Given the description of an element on the screen output the (x, y) to click on. 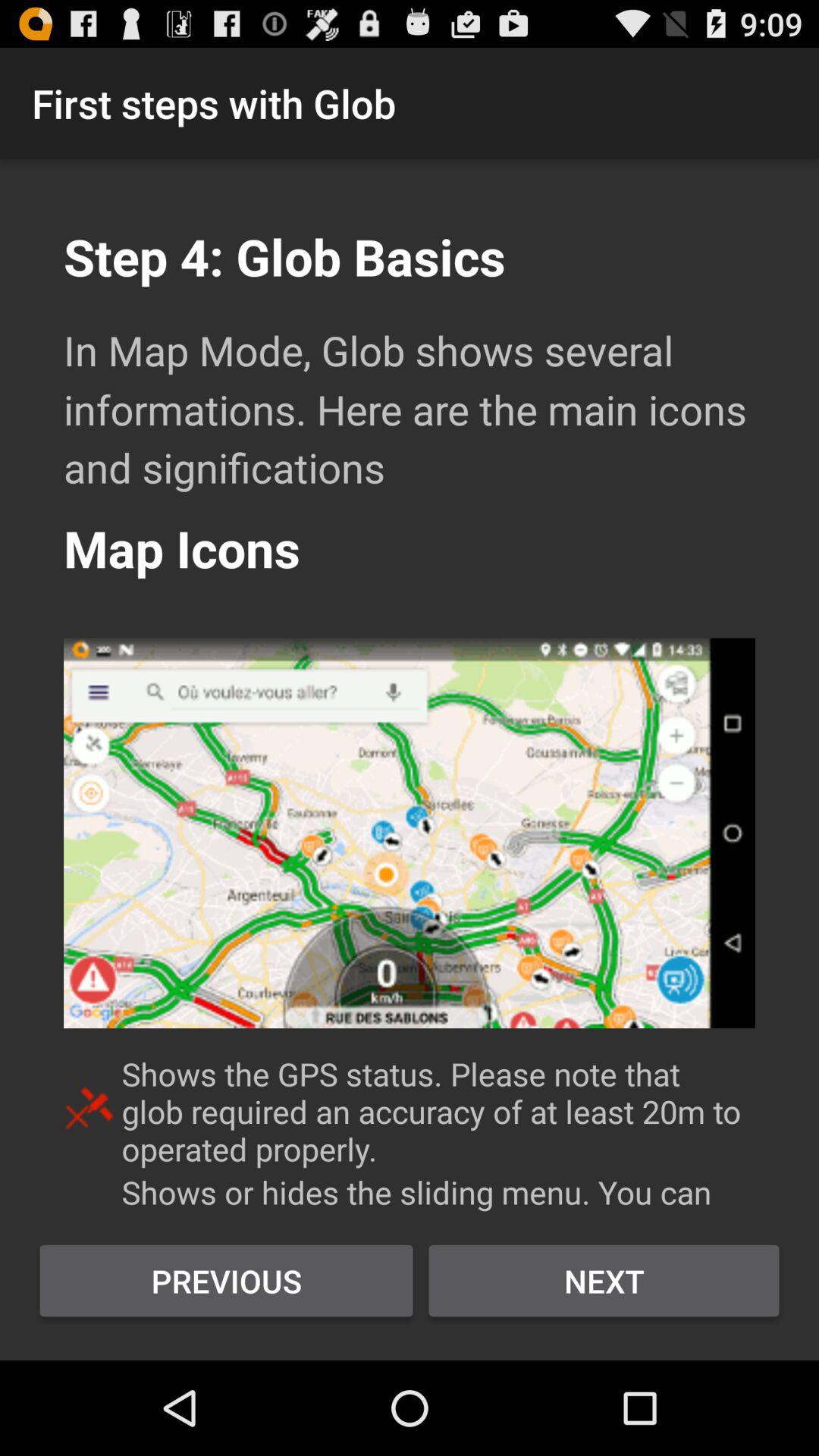
open next at the bottom right corner (603, 1280)
